Given the description of an element on the screen output the (x, y) to click on. 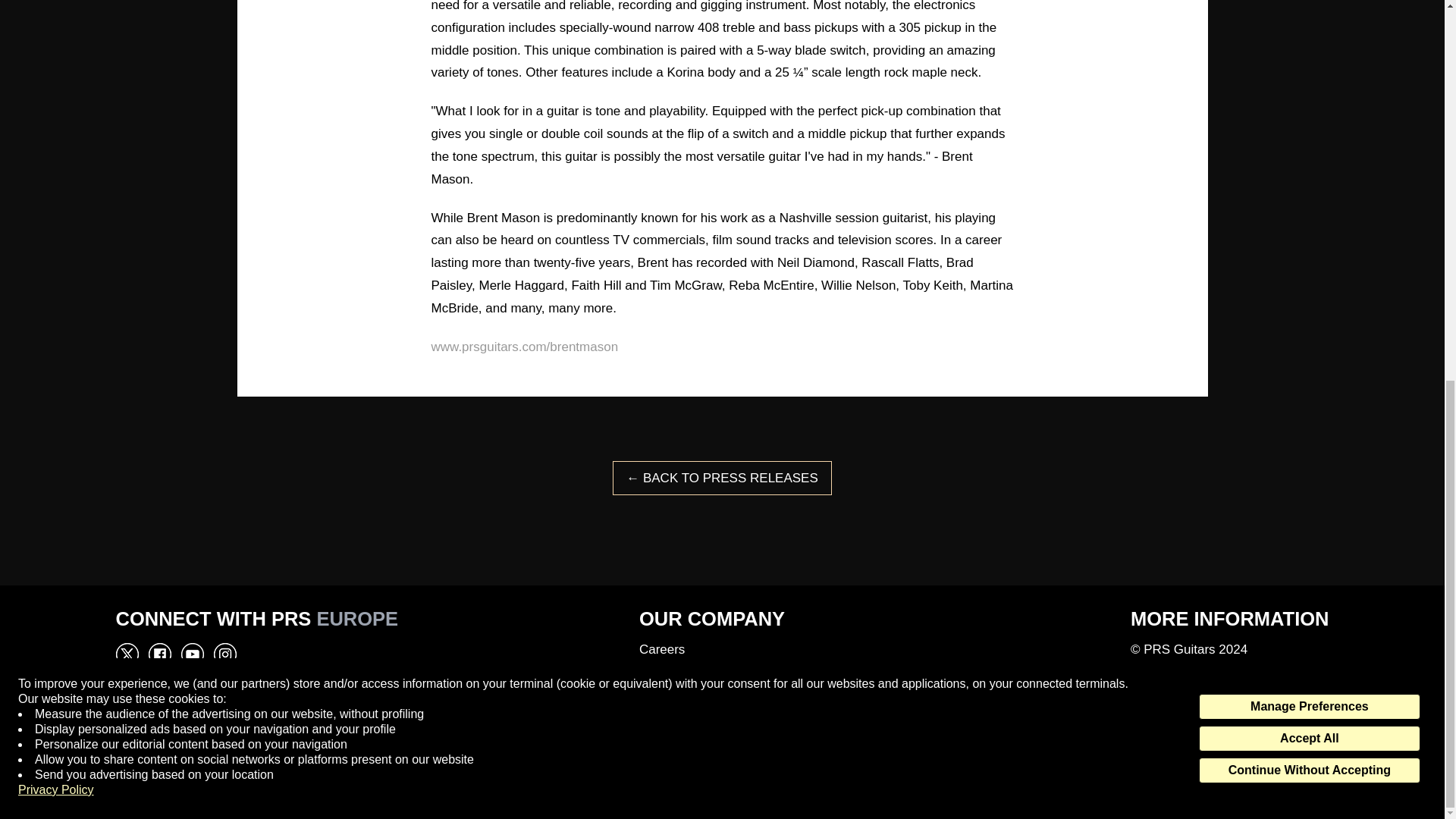
YouTube (191, 739)
YouTube (191, 653)
TikTok (257, 739)
Accept All (1309, 29)
Instagram (224, 739)
Facebook (159, 739)
Facebook (159, 653)
X (126, 739)
Continue Without Accepting (1309, 61)
Instagram (224, 653)
Privacy Policy (55, 80)
Manage Preferences (1309, 5)
X (126, 653)
